Given the description of an element on the screen output the (x, y) to click on. 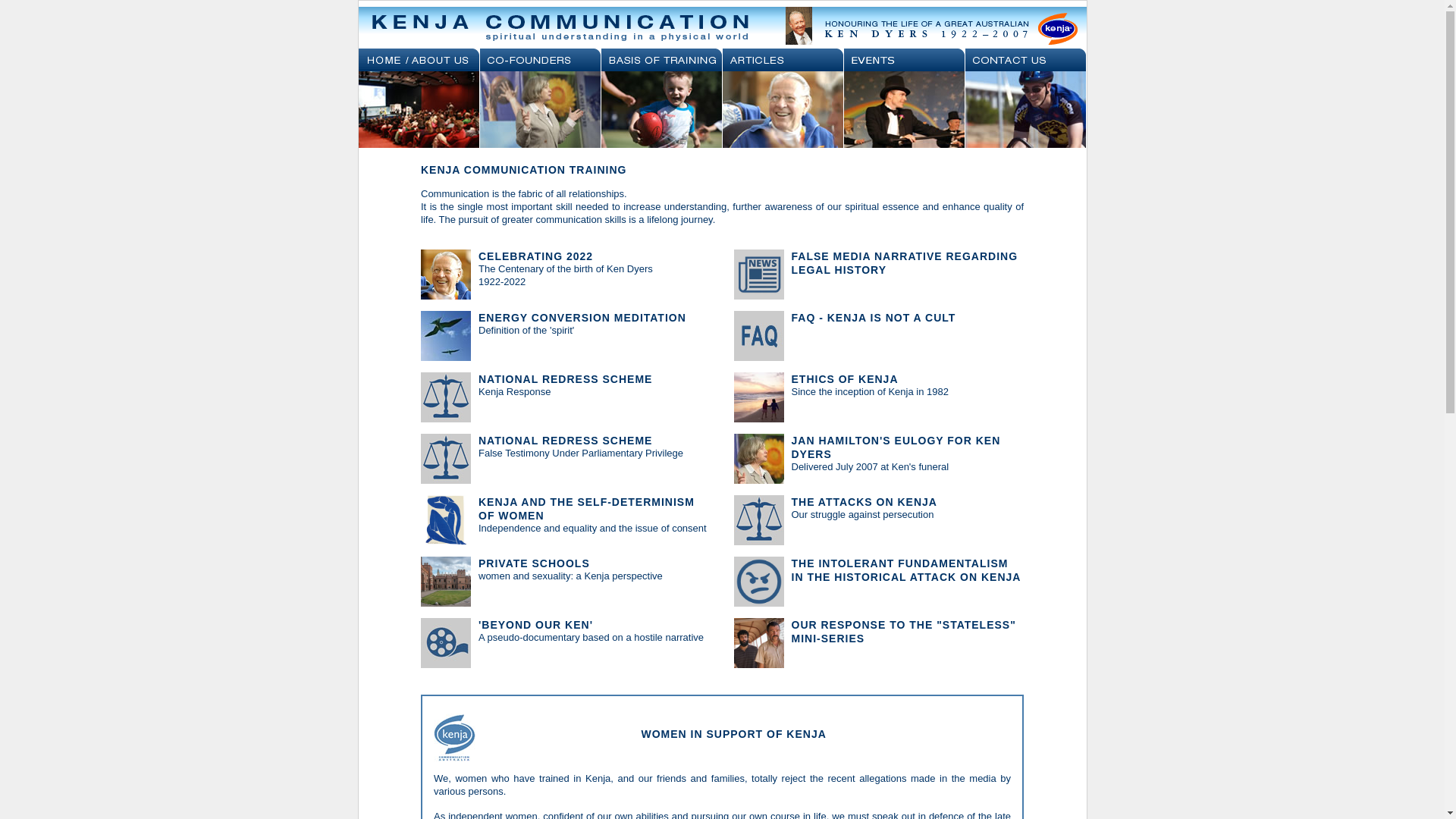
OUR RESPONSE TO THE "STATELESS" MINI-SERIES Element type: text (903, 631)
KENJA AND THE SELF-DETERMINISM OF WOMEN Element type: text (586, 508)
NATIONAL REDRESS SCHEME Element type: text (565, 440)
FAQ - KENJA IS NOT A CULT Element type: text (873, 317)
FALSE MEDIA NARRATIVE REGARDING LEGAL HISTORY Element type: text (904, 263)
NATIONAL REDRESS SCHEME Element type: text (565, 379)
Basis of Training Element type: hover (660, 59)
PRIVATE SCHOOLS Element type: text (533, 563)
Articles Element type: hover (782, 59)
Co-Founders Element type: hover (539, 59)
Events Element type: hover (903, 59)
'BEYOND OUR KEN' Element type: text (535, 624)
CELEBRATING 2022 Element type: text (535, 256)
Contact-us Element type: hover (1024, 59)
JAN HAMILTON'S EULOGY FOR KEN DYERS Element type: text (896, 447)
ETHICS OF KENJA Element type: text (844, 379)
THE ATTACKS ON KENJA Element type: text (864, 501)
ENERGY CONVERSION MEDITATION Element type: text (582, 317)
About us Element type: hover (418, 59)
